Given the description of an element on the screen output the (x, y) to click on. 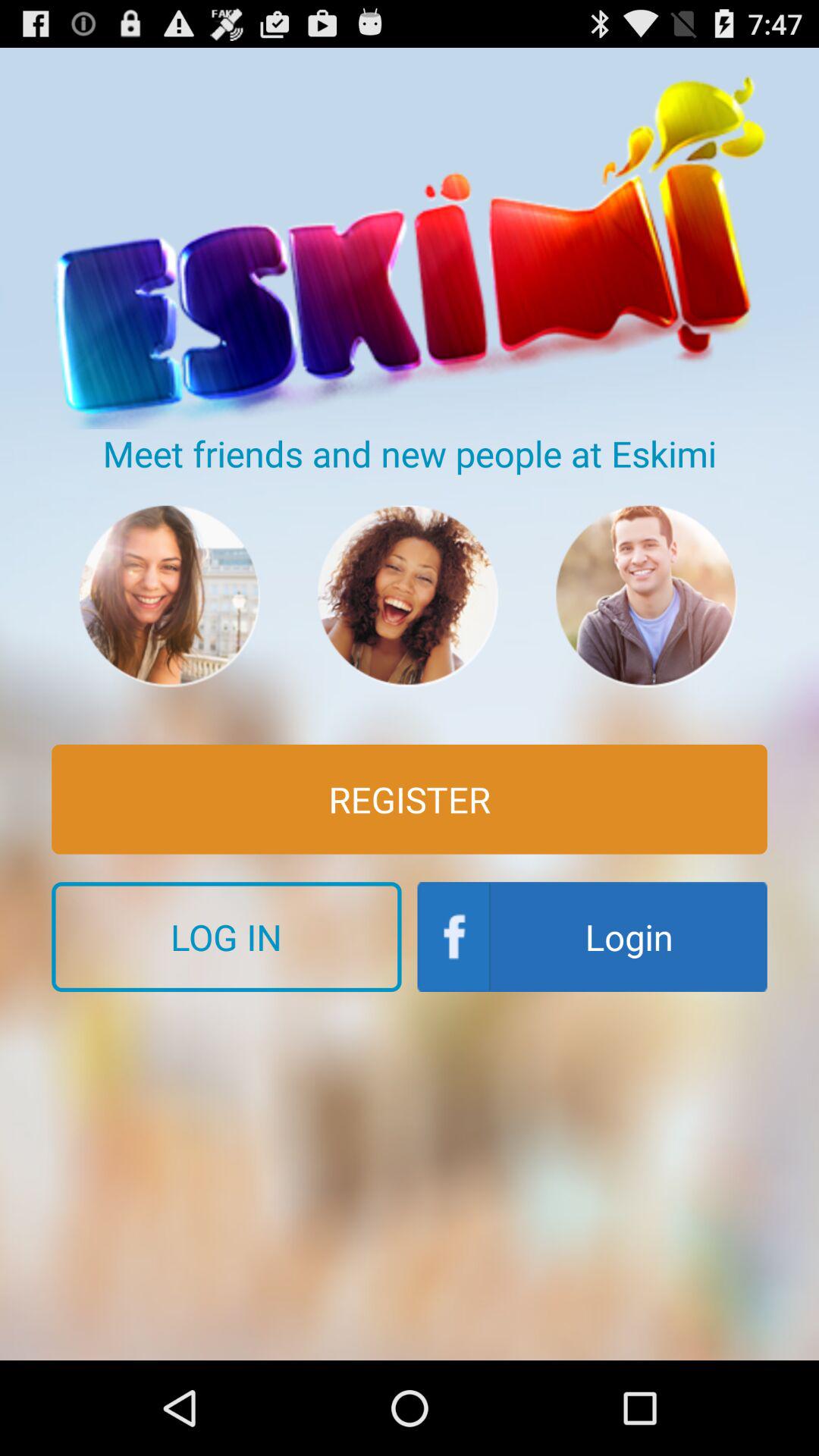
jump to the log in button (226, 936)
